Given the description of an element on the screen output the (x, y) to click on. 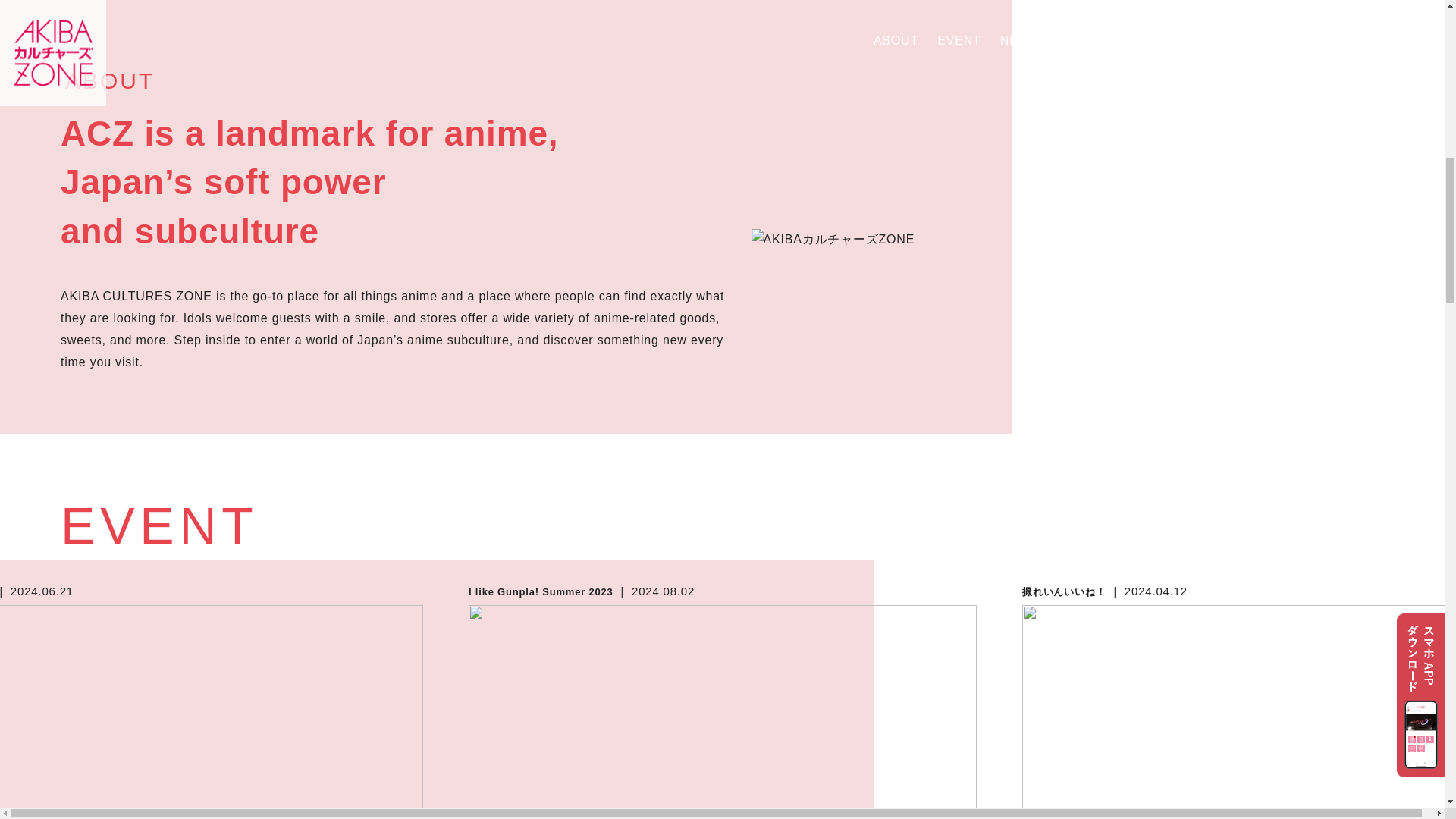
Previous (476, 754)
Next (969, 754)
